Given the description of an element on the screen output the (x, y) to click on. 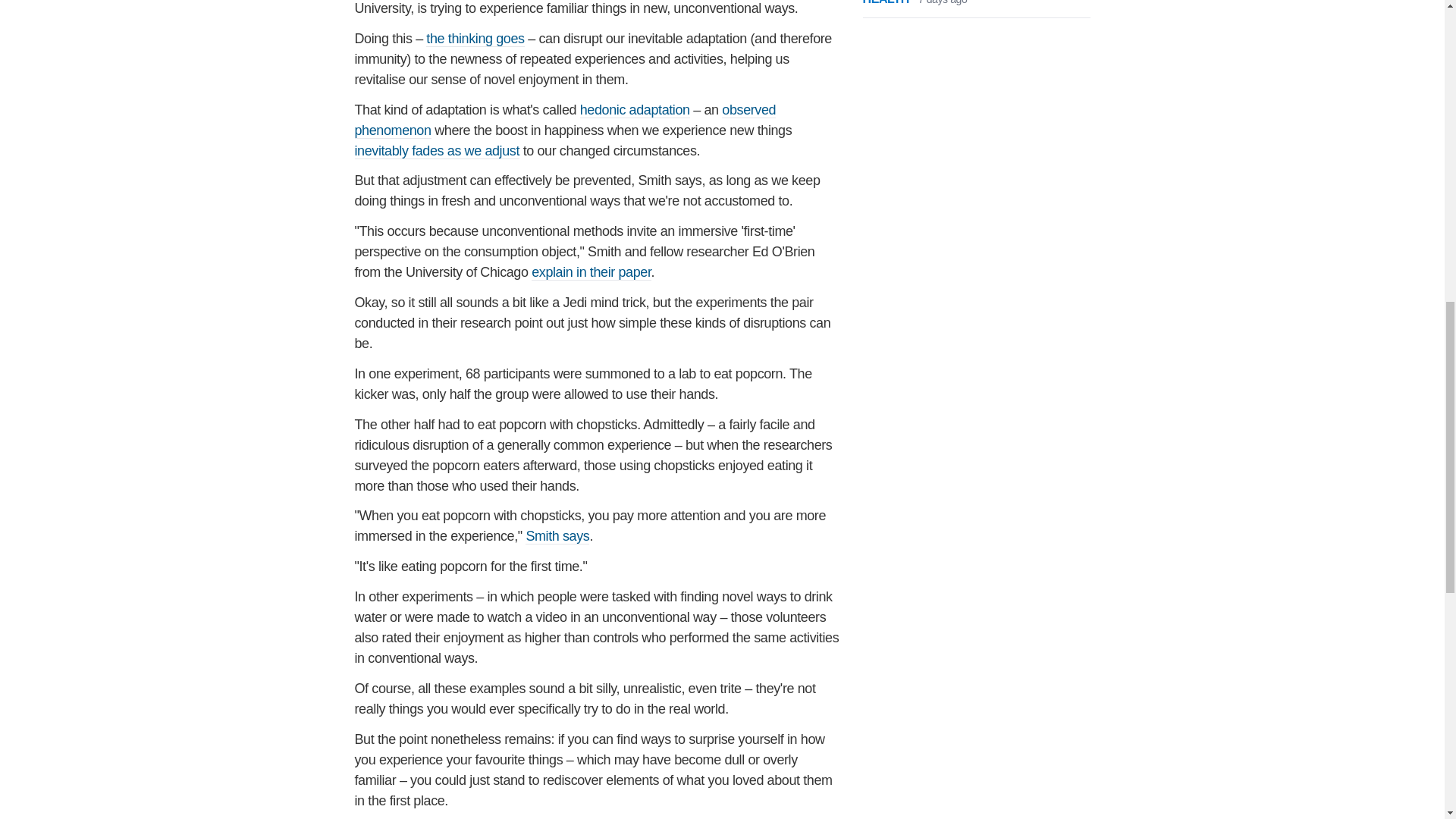
explain in their paper (590, 272)
observed phenomenon (565, 120)
the thinking goes (475, 38)
hedonic adaptation (634, 109)
inevitably fades as we adjust (437, 150)
